Given the description of an element on the screen output the (x, y) to click on. 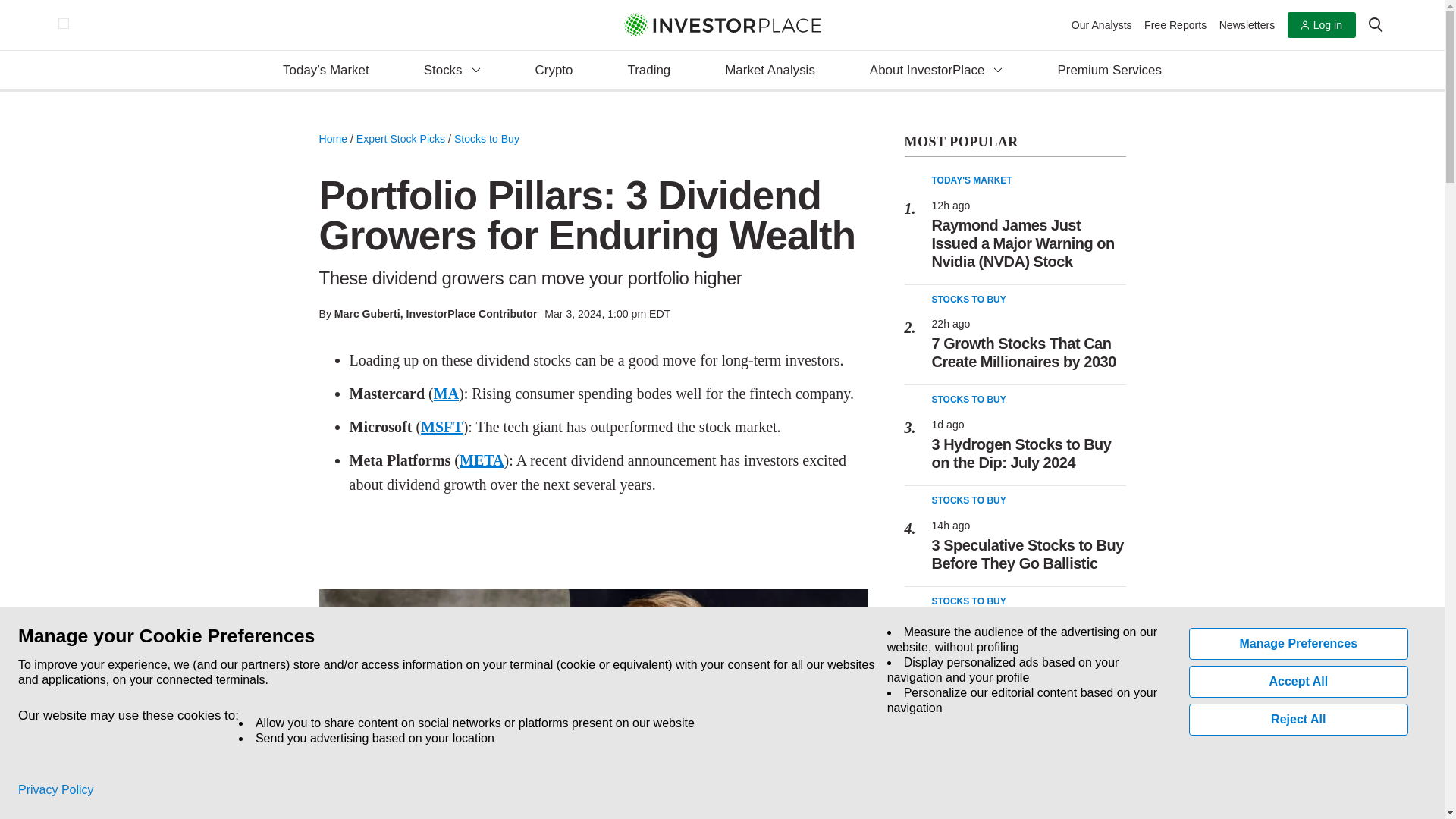
Manage Preferences (1299, 644)
View profile of Marc Guberti (367, 313)
Newsletters (1247, 24)
Free Reports (1175, 24)
Stocks (452, 70)
Privacy Policy (55, 789)
Our Analysts (1101, 24)
Accept All (1299, 681)
Reject All (1299, 719)
Log in (1321, 25)
